Given the description of an element on the screen output the (x, y) to click on. 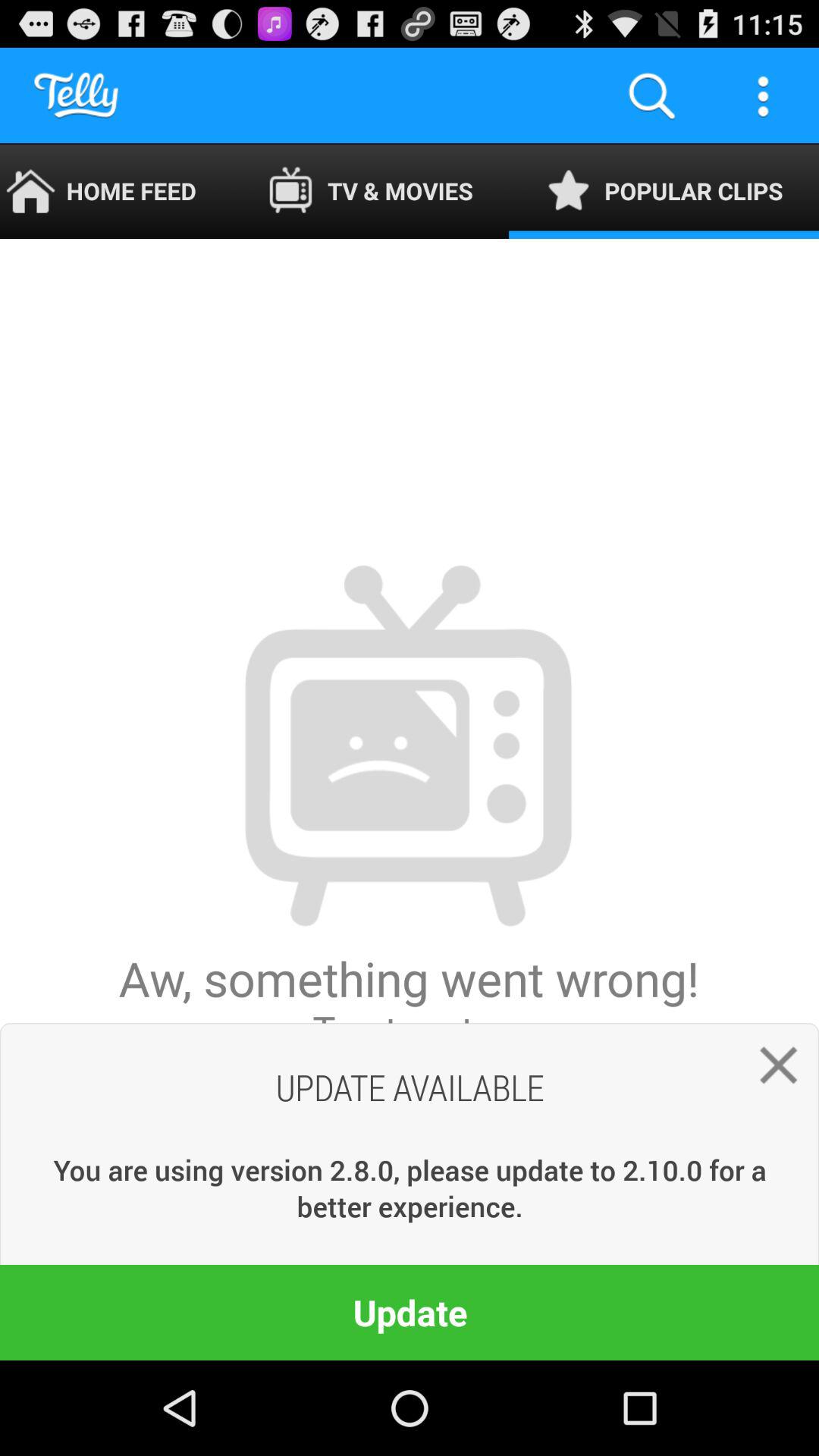
launch the icon to the left of tv & movies icon (116, 190)
